Given the description of an element on the screen output the (x, y) to click on. 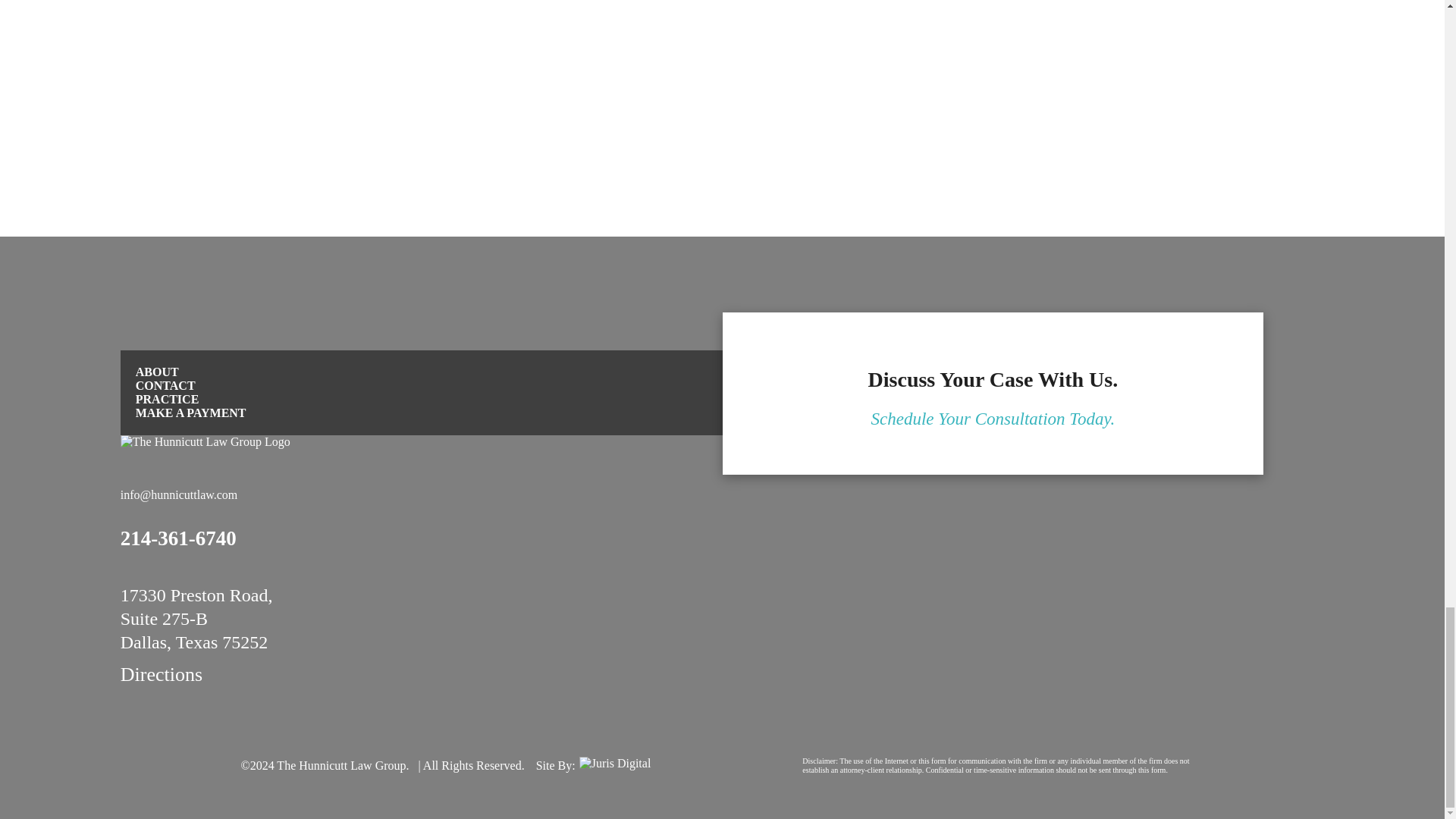
Site by Juris Digital Law Firm Marketing (636, 764)
Email (179, 494)
Call The Hunnicutt Law Group (177, 538)
